Given the description of an element on the screen output the (x, y) to click on. 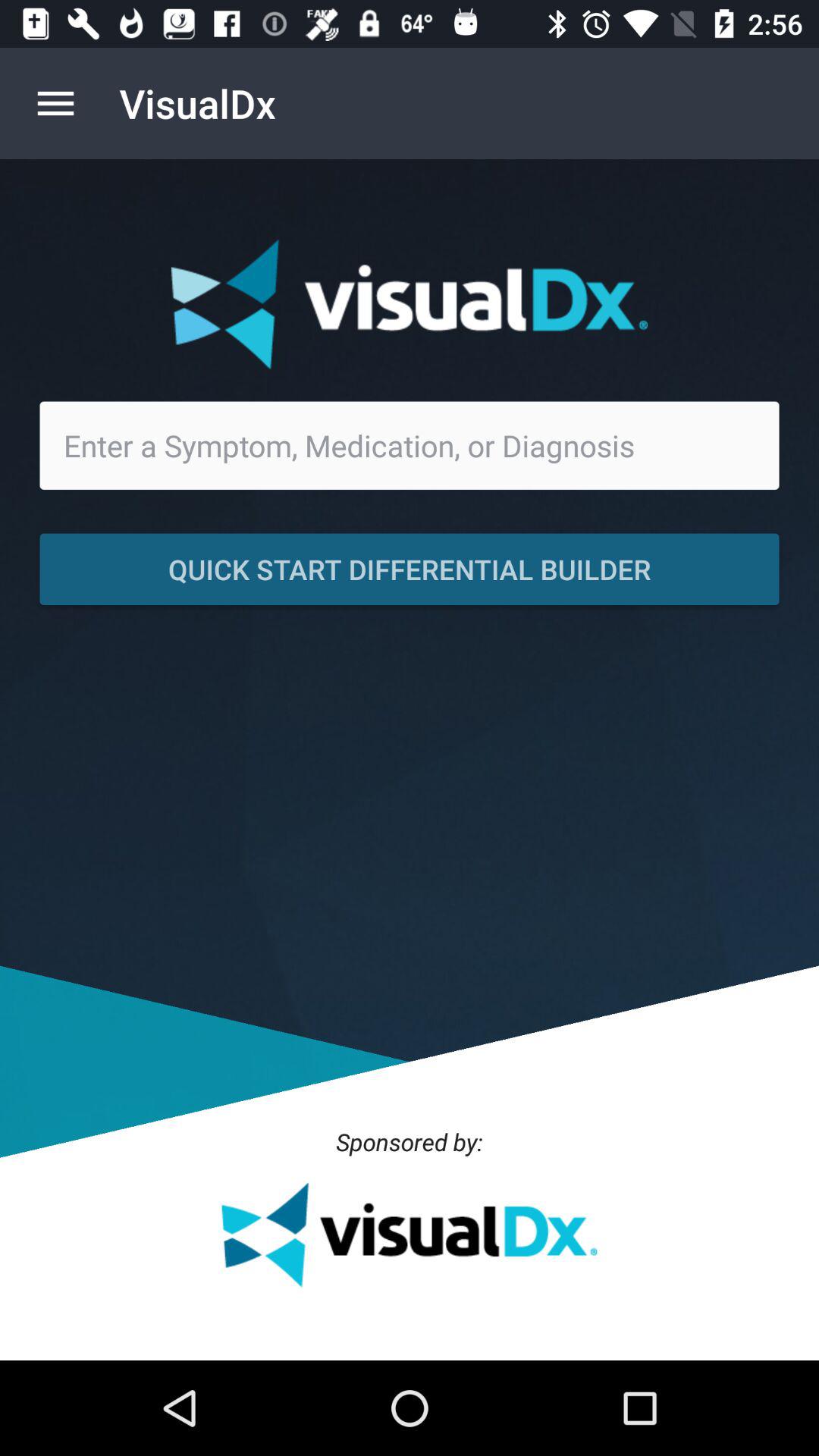
search bar (409, 445)
